Given the description of an element on the screen output the (x, y) to click on. 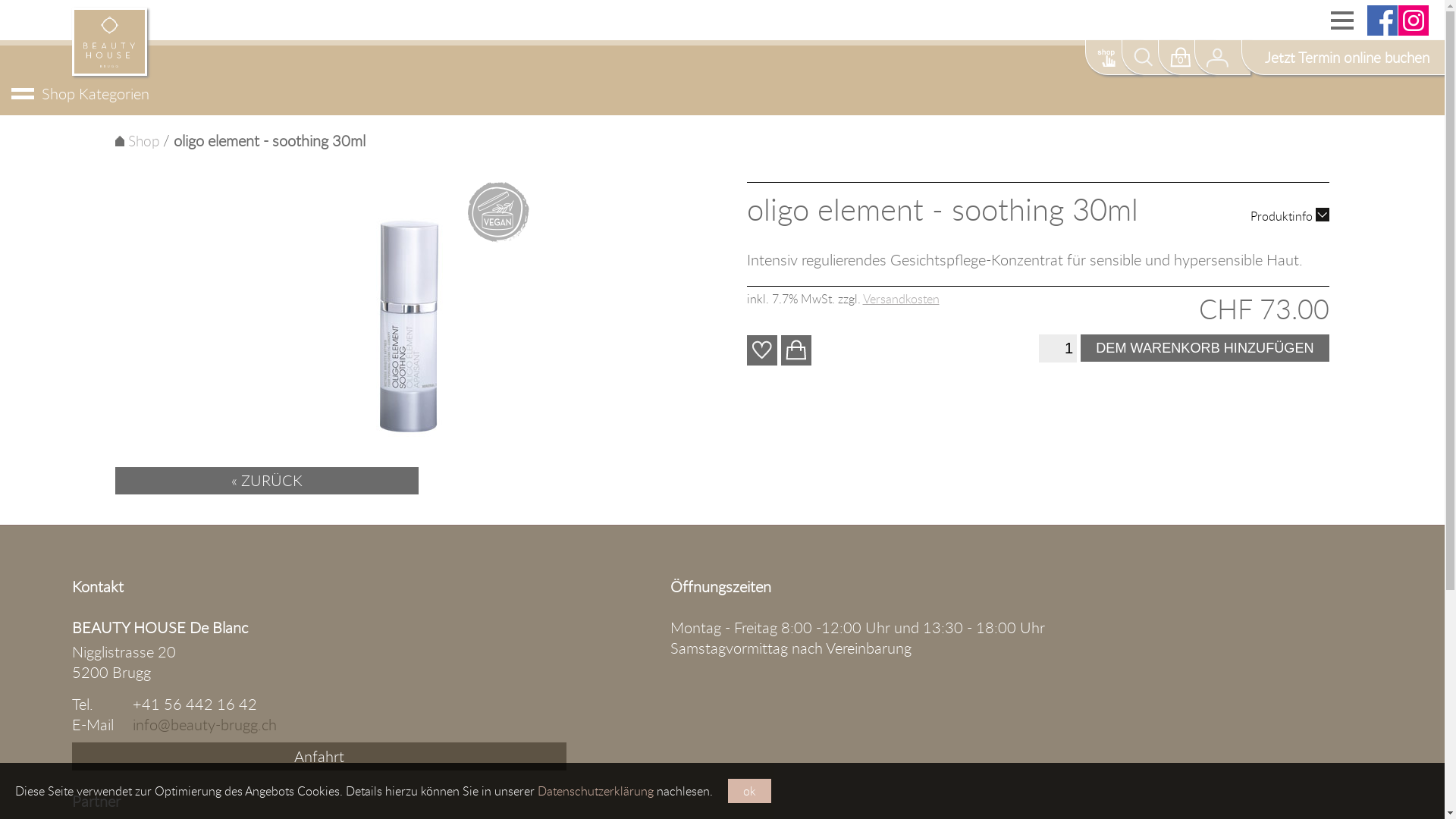
0 Element type: text (1185, 57)
Shop Element type: text (137, 140)
Auf den Merkzettel setzen Element type: hover (761, 350)
Versandkosten Element type: text (900, 298)
Produktinfo Element type: text (1289, 215)
Shop Element type: hover (1113, 57)
Beauty House De Blanc - Ihr Kosmetikinstitut in Brugg Element type: hover (109, 70)
Benutzerkonto Element type: hover (1222, 57)
Shop Kategorien Element type: text (722, 93)
info@beauty-brugg.ch Element type: text (204, 724)
OE soothing 30ml Element type: hover (406, 314)
Anfahrt Element type: text (319, 756)
Warenkorb Element type: hover (796, 350)
Jetzt Termin online buchen Element type: text (1342, 57)
Suche Element type: hover (1149, 57)
ok Element type: text (749, 790)
